Given the description of an element on the screen output the (x, y) to click on. 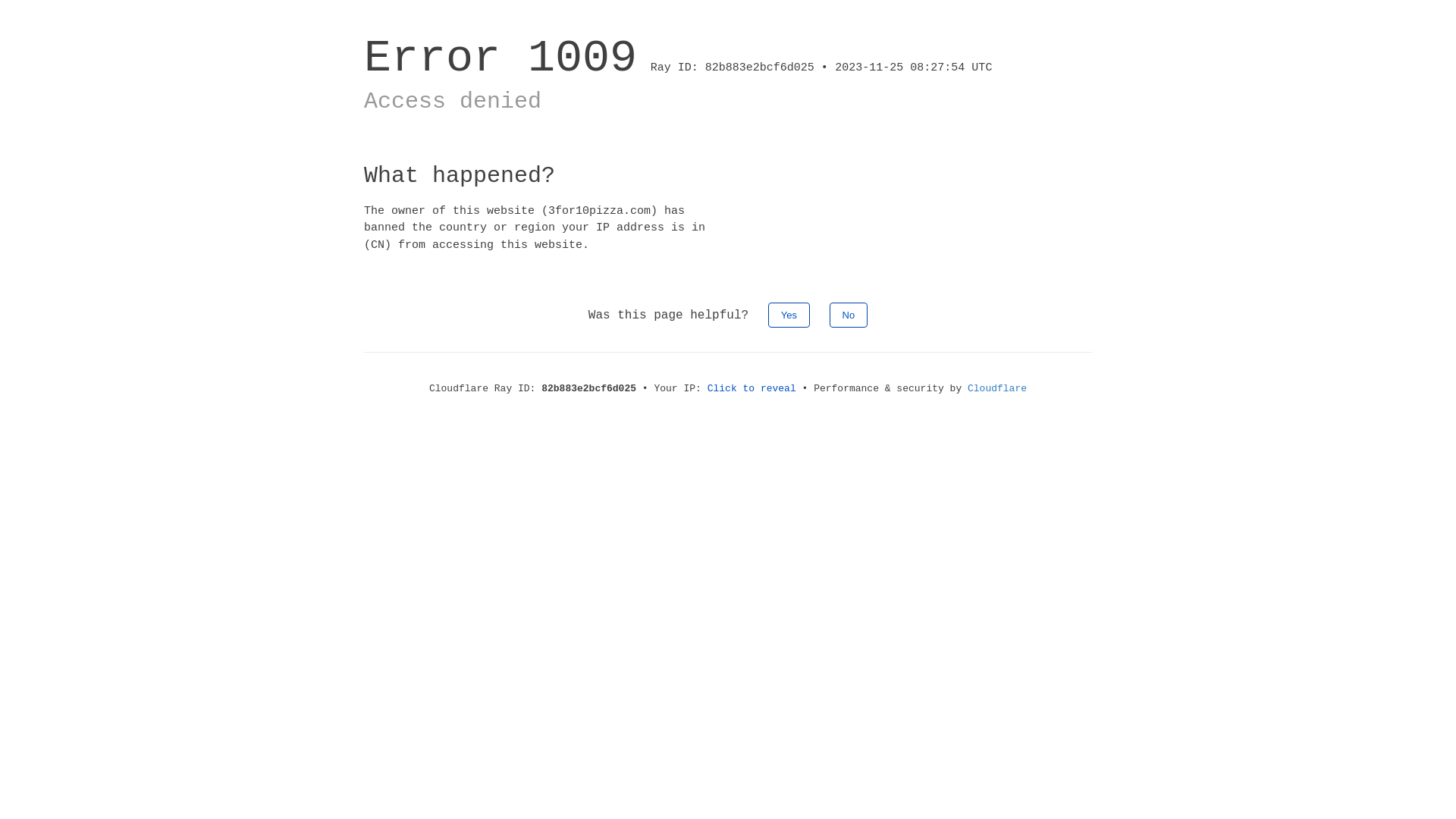
Yes Element type: text (788, 314)
Click to reveal Element type: text (751, 388)
No Element type: text (848, 314)
Cloudflare Element type: text (996, 388)
